Given the description of an element on the screen output the (x, y) to click on. 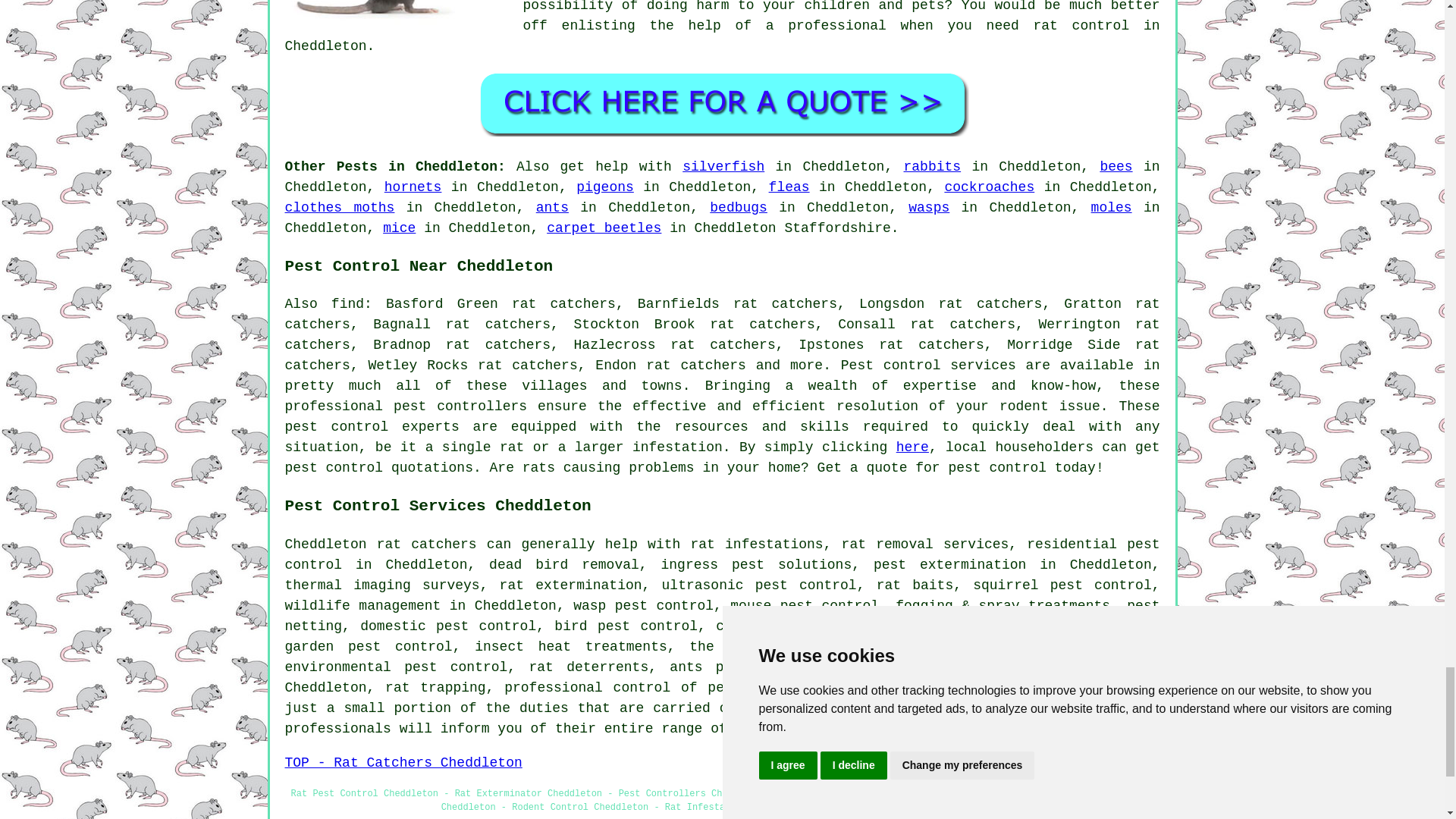
pest control (334, 467)
Pest control services (928, 365)
pest control (336, 426)
rat catchers (427, 544)
